Given the description of an element on the screen output the (x, y) to click on. 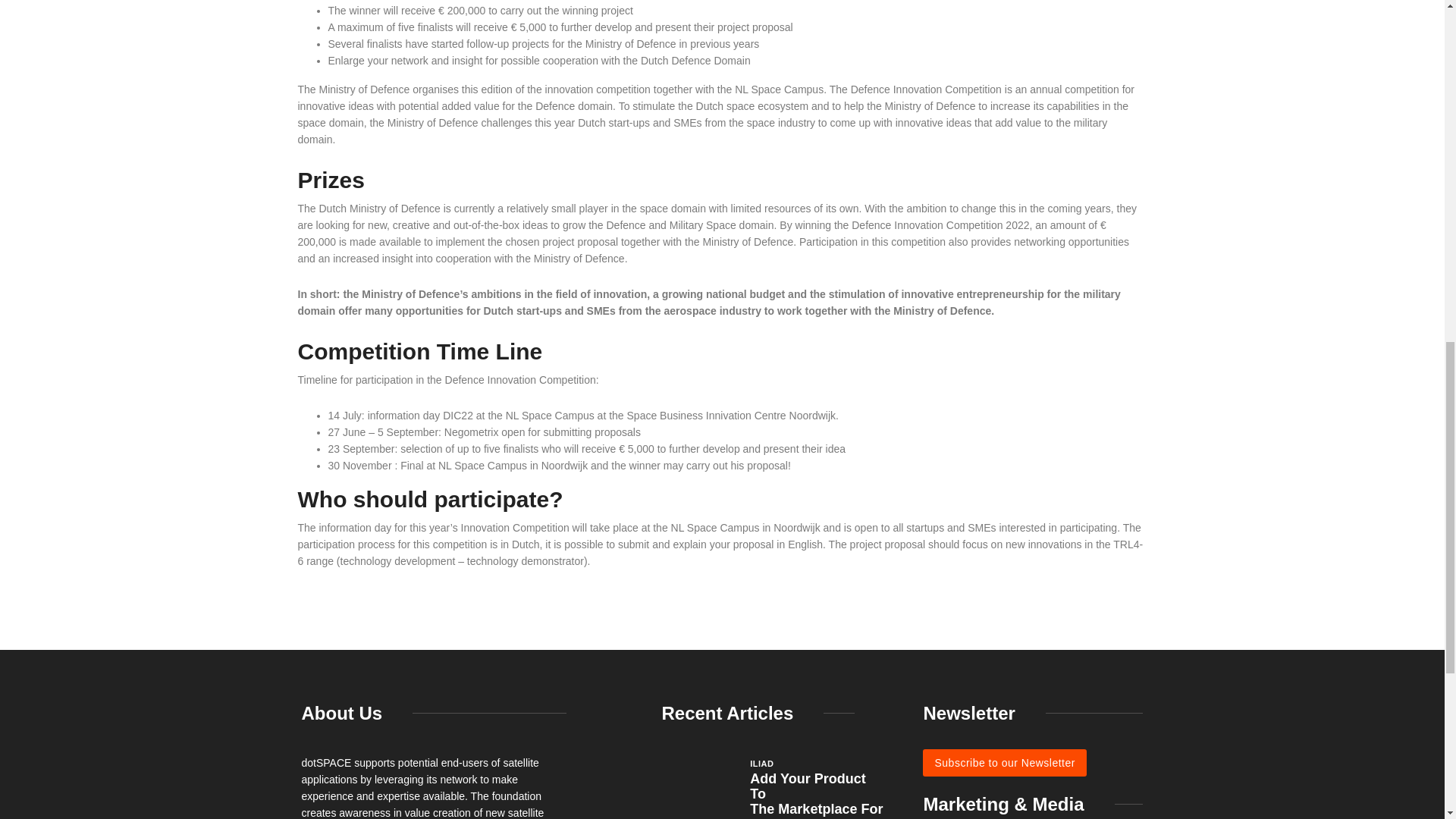
ILIAD (761, 763)
Subscribe to our Newsletter (1004, 762)
Add Your Product To The Marketplace For (815, 793)
